Given the description of an element on the screen output the (x, y) to click on. 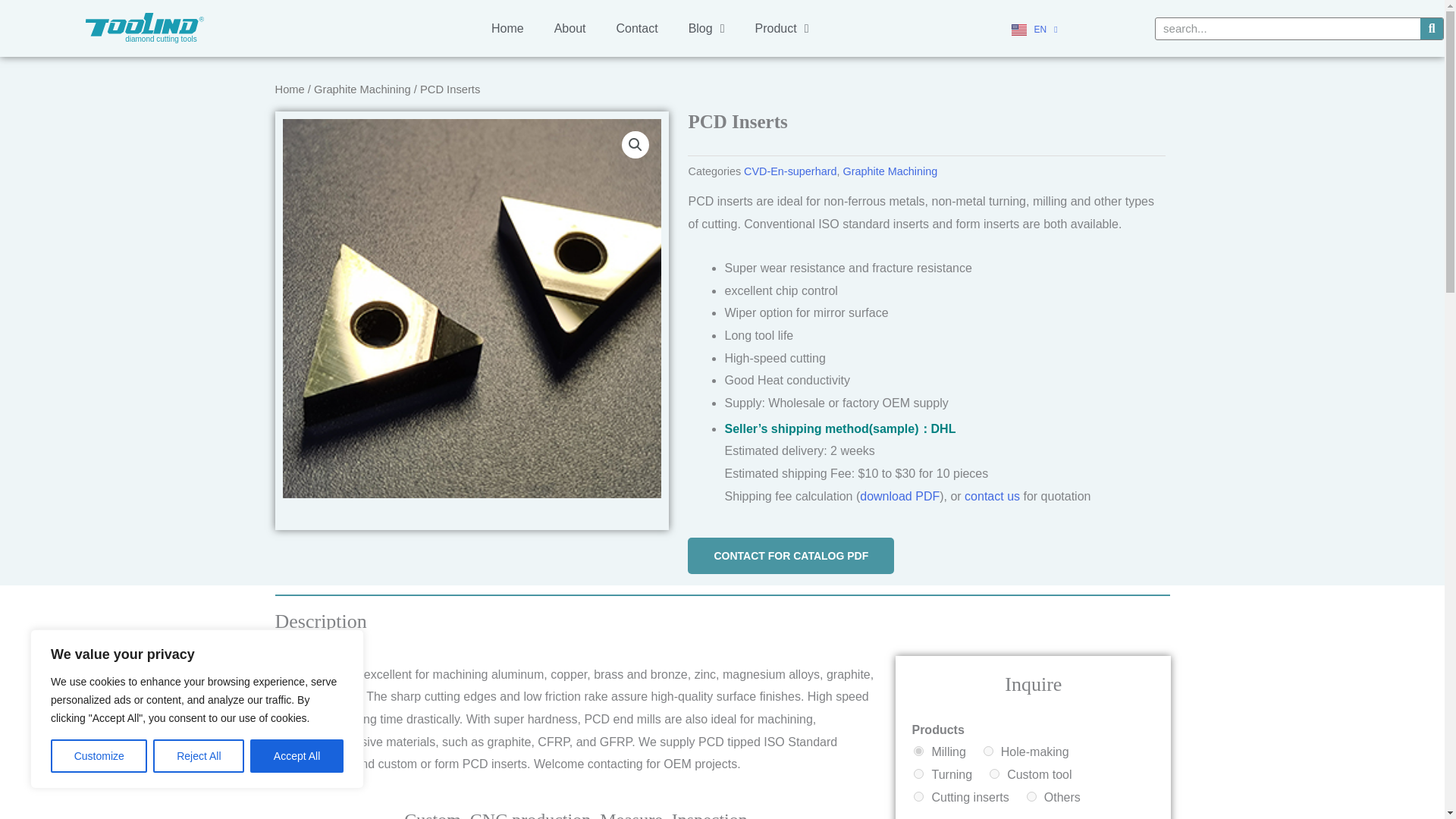
Customize (98, 756)
Custom tool (994, 773)
Milling (918, 750)
Home (507, 27)
Blog (705, 27)
About (569, 27)
Others (1031, 796)
Reject All (198, 756)
Product (781, 27)
Hole-making (988, 750)
Accept All (296, 756)
Cutting inserts (918, 796)
Turning (918, 773)
Contact (635, 27)
